Given the description of an element on the screen output the (x, y) to click on. 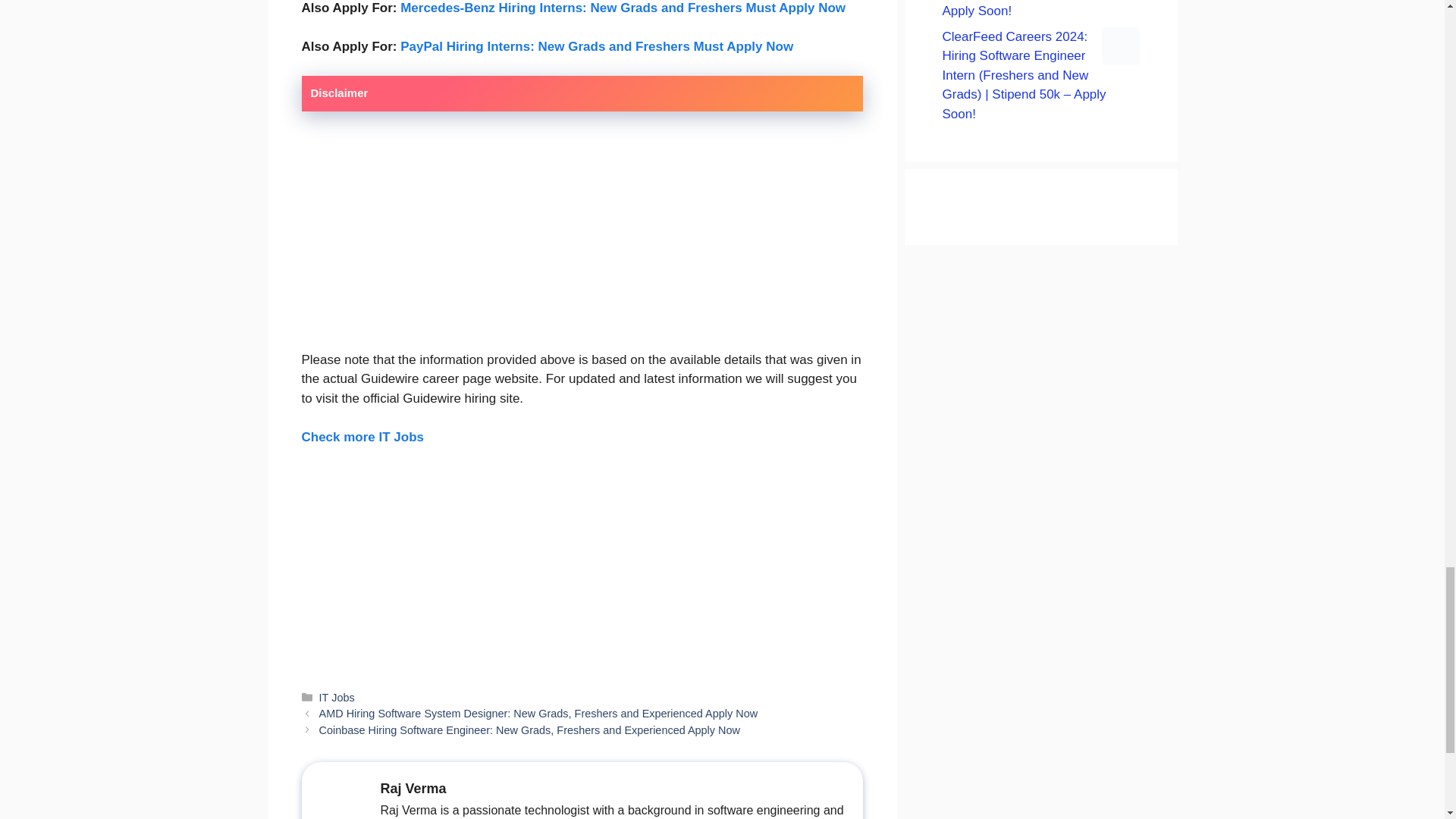
PayPal Hiring Interns: New Grads and Freshers Must Apply Now (596, 46)
Check more IT Jobs (363, 436)
Advertisement (1040, 358)
IT Jobs (336, 697)
